Given the description of an element on the screen output the (x, y) to click on. 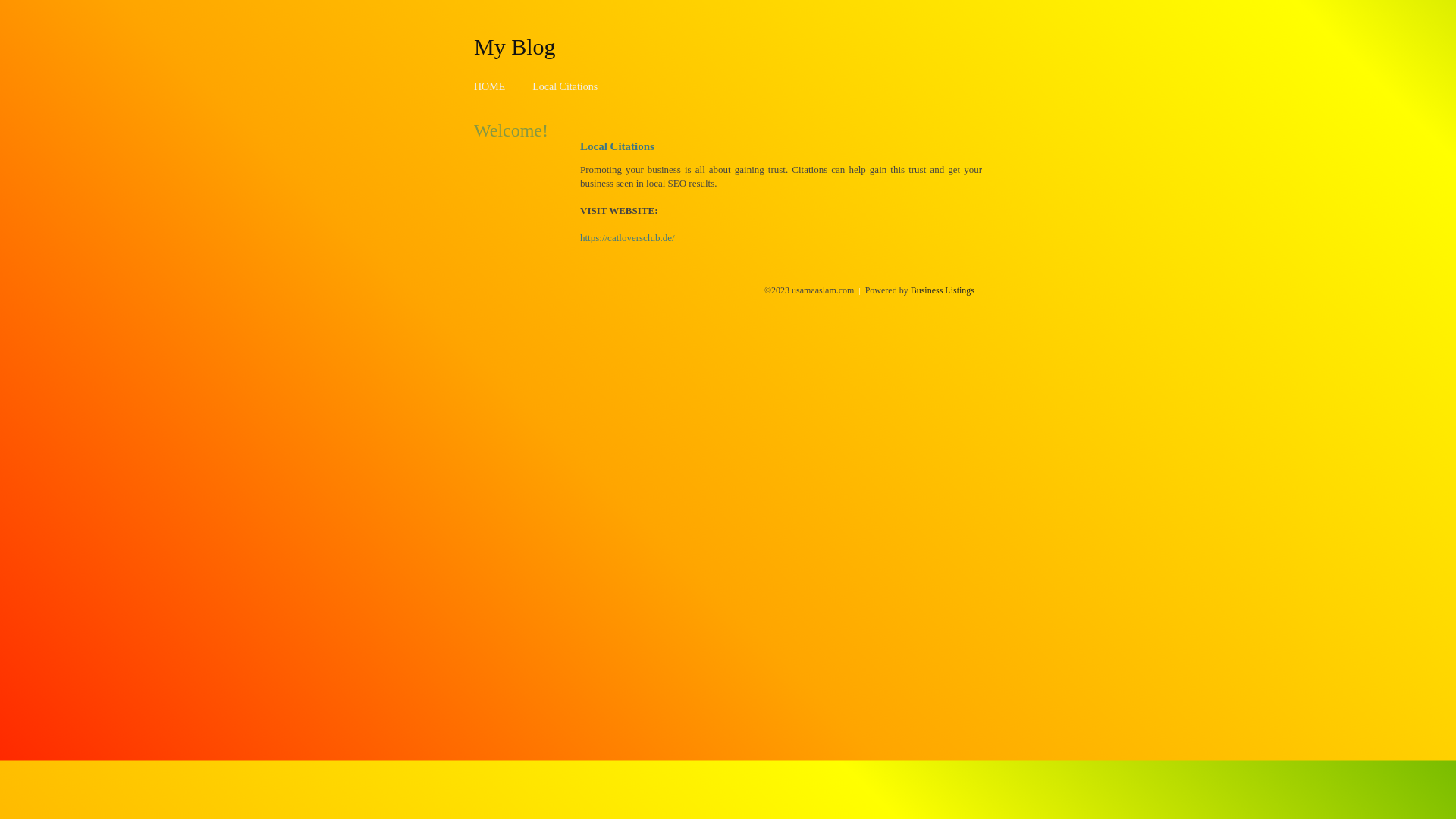
Local Citations Element type: text (564, 86)
HOME Element type: text (489, 86)
https://catloversclub.de/ Element type: text (627, 237)
My Blog Element type: text (514, 46)
Business Listings Element type: text (942, 290)
